Given the description of an element on the screen output the (x, y) to click on. 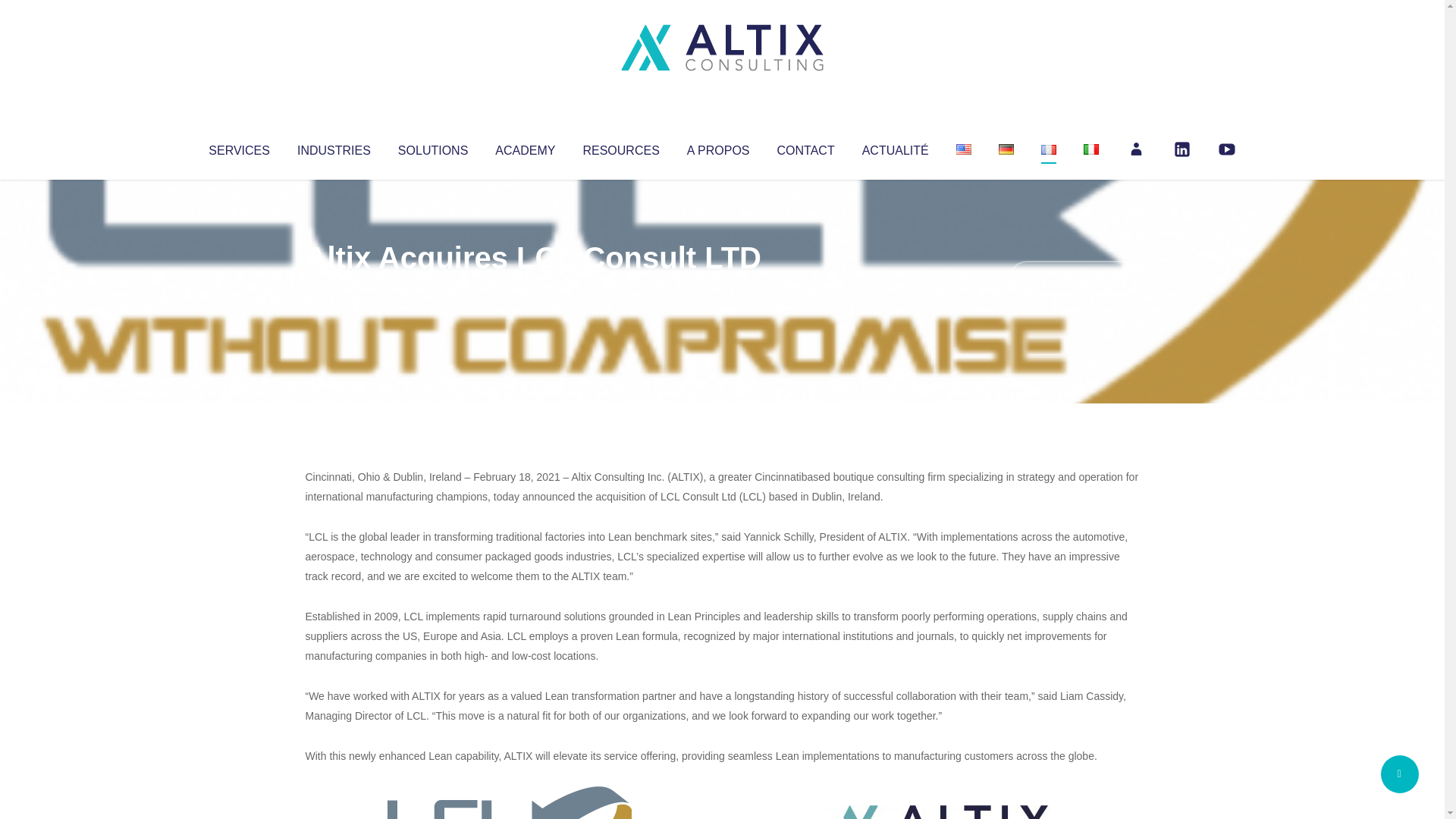
No Comments (1073, 278)
Uncategorized (530, 287)
Altix (333, 287)
ACADEMY (524, 146)
RESOURCES (620, 146)
SOLUTIONS (432, 146)
Articles par Altix (333, 287)
A PROPOS (718, 146)
INDUSTRIES (334, 146)
SERVICES (238, 146)
